Given the description of an element on the screen output the (x, y) to click on. 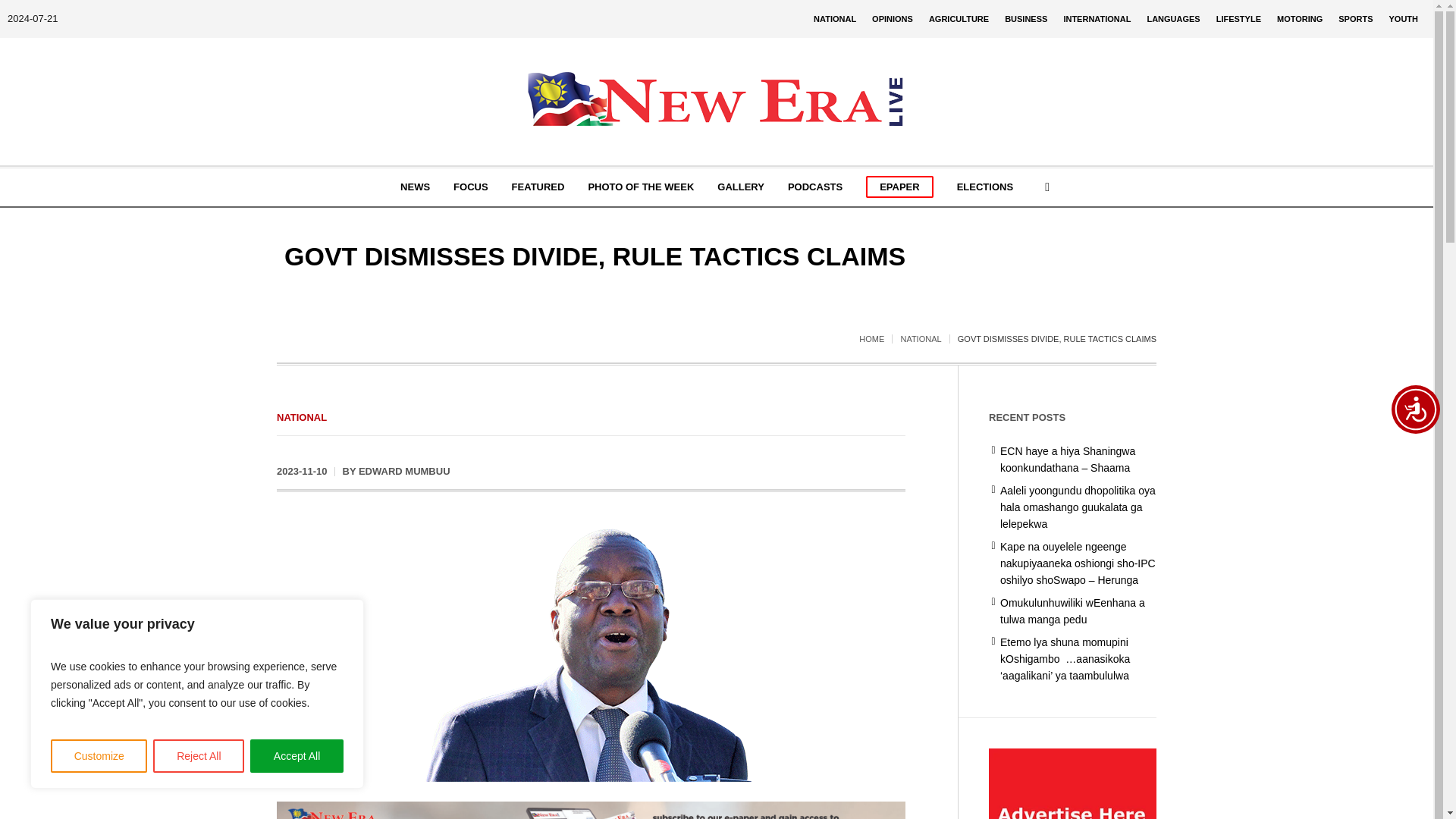
Accept All (296, 756)
INTERNATIONAL (1096, 18)
Posts by Edward Mumbuu (403, 471)
2023-11-10 (301, 471)
OPINIONS (892, 18)
LANGUAGES (1172, 18)
MOTORING (1299, 18)
YOUTH (1403, 18)
NATIONAL (834, 18)
SPORTS (1355, 18)
uutoni 1 (590, 652)
Govt dismisses divide, rule tactics claims (590, 650)
Customize (98, 756)
Reject All (198, 756)
AGRICULTURE (958, 18)
